Given the description of an element on the screen output the (x, y) to click on. 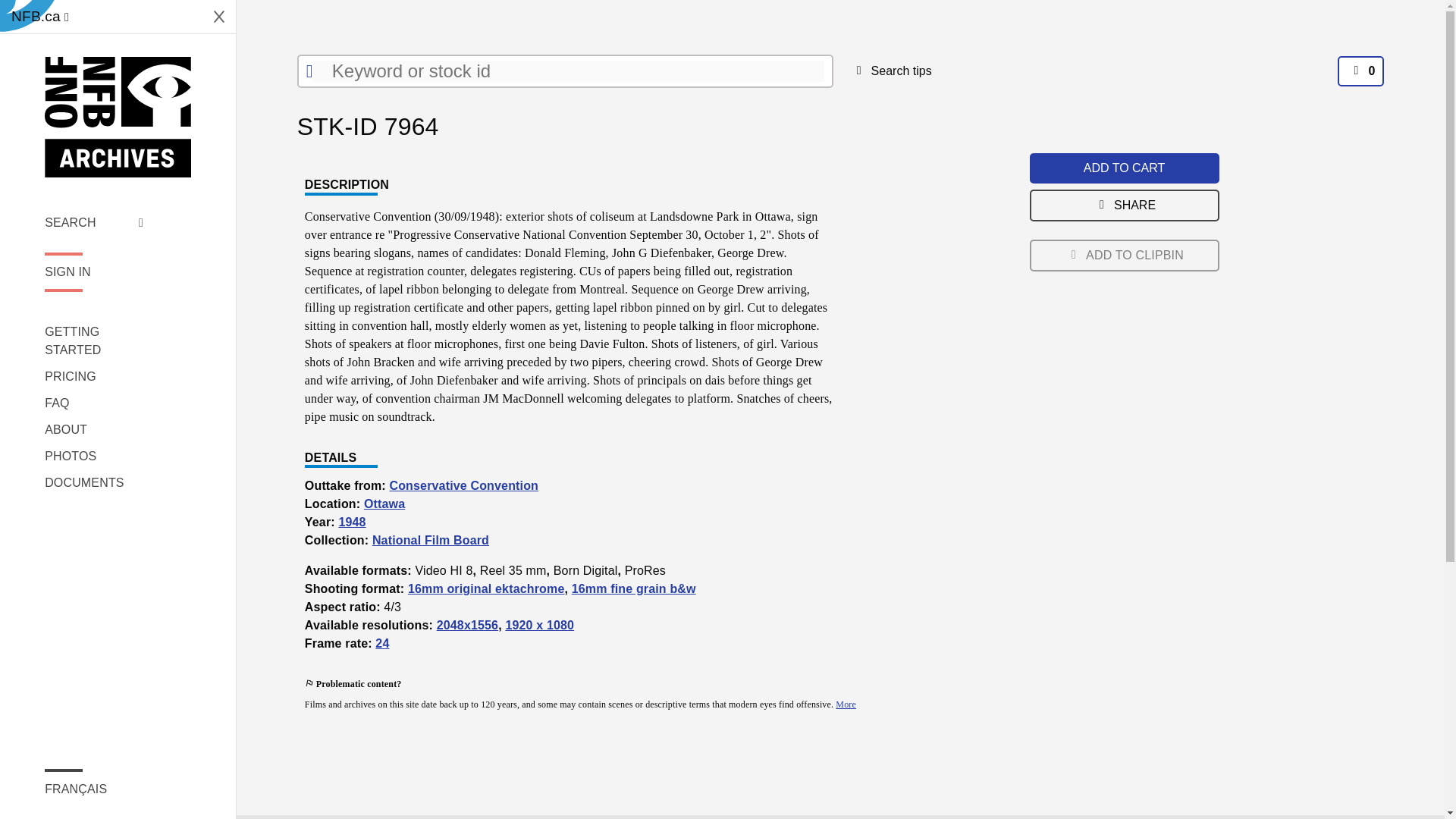
ABOUT (93, 429)
FAQ (93, 402)
Search tips (890, 71)
PHOTOS (93, 456)
1948 (351, 521)
ADD TO CART (1124, 168)
2048x1556 (467, 625)
More (845, 704)
GETTING STARTED (93, 340)
ADD TO CLIPBIN (1124, 255)
1920 x 1080 (539, 625)
16mm original ektachrome (485, 588)
National Film Board (430, 540)
Watch films on NFB.ca (39, 16)
SHARE (1124, 205)
